Given the description of an element on the screen output the (x, y) to click on. 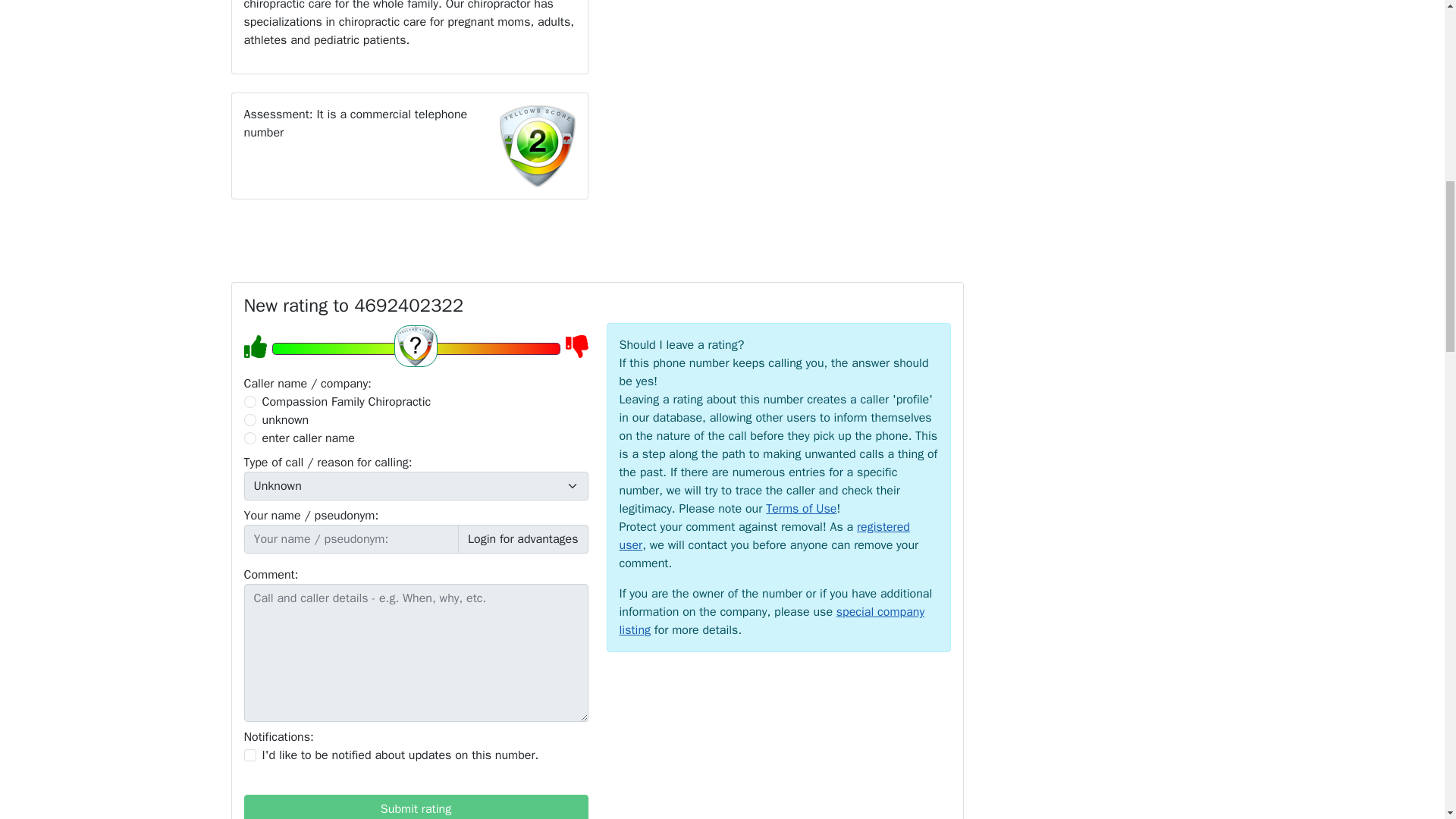
1 (250, 755)
special company listing (771, 621)
2 (250, 419)
3 (250, 438)
Terms of Use (800, 508)
Login for advantages (523, 538)
0 (250, 401)
5 (414, 348)
Submit rating (416, 806)
